Given the description of an element on the screen output the (x, y) to click on. 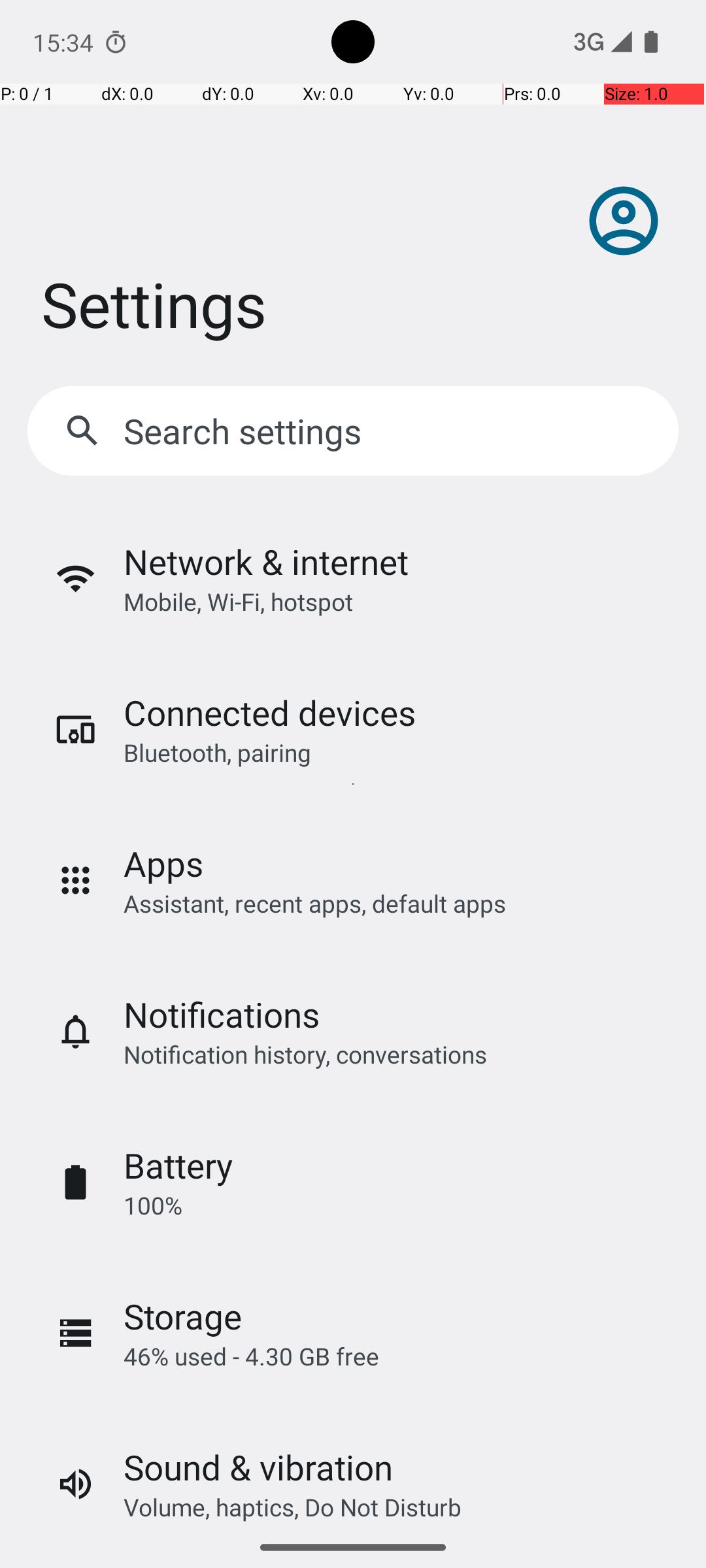
46% used - 4.30 GB free Element type: android.widget.TextView (251, 1355)
